Given the description of an element on the screen output the (x, y) to click on. 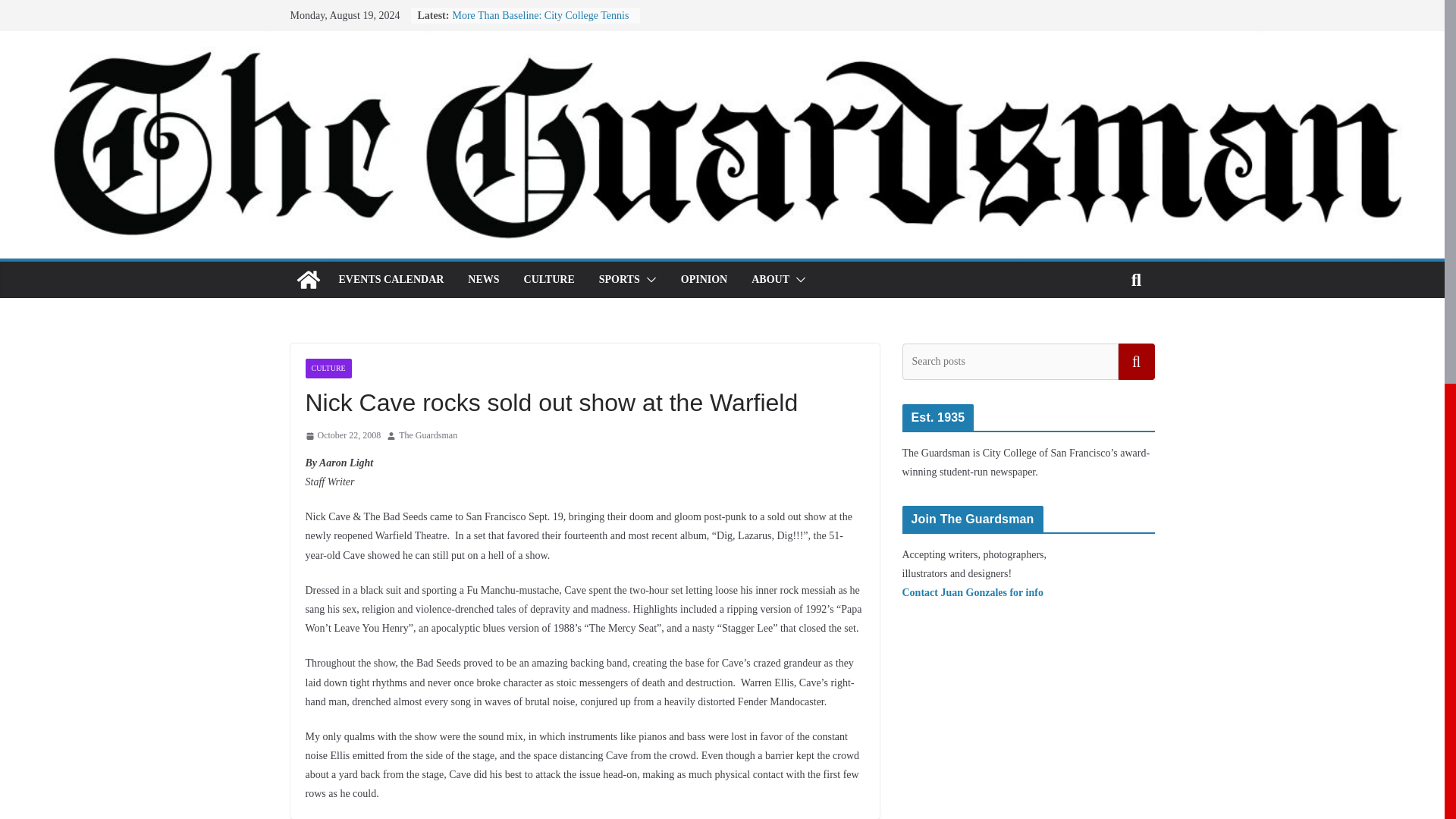
Search (1136, 361)
CULTURE (549, 279)
CULTURE (327, 368)
October 22, 2008 (342, 435)
The Guardsman (427, 435)
OPINION (703, 279)
Contact Juan Gonzales for info (972, 592)
NEWS (483, 279)
SPORTS (619, 279)
